Given the description of an element on the screen output the (x, y) to click on. 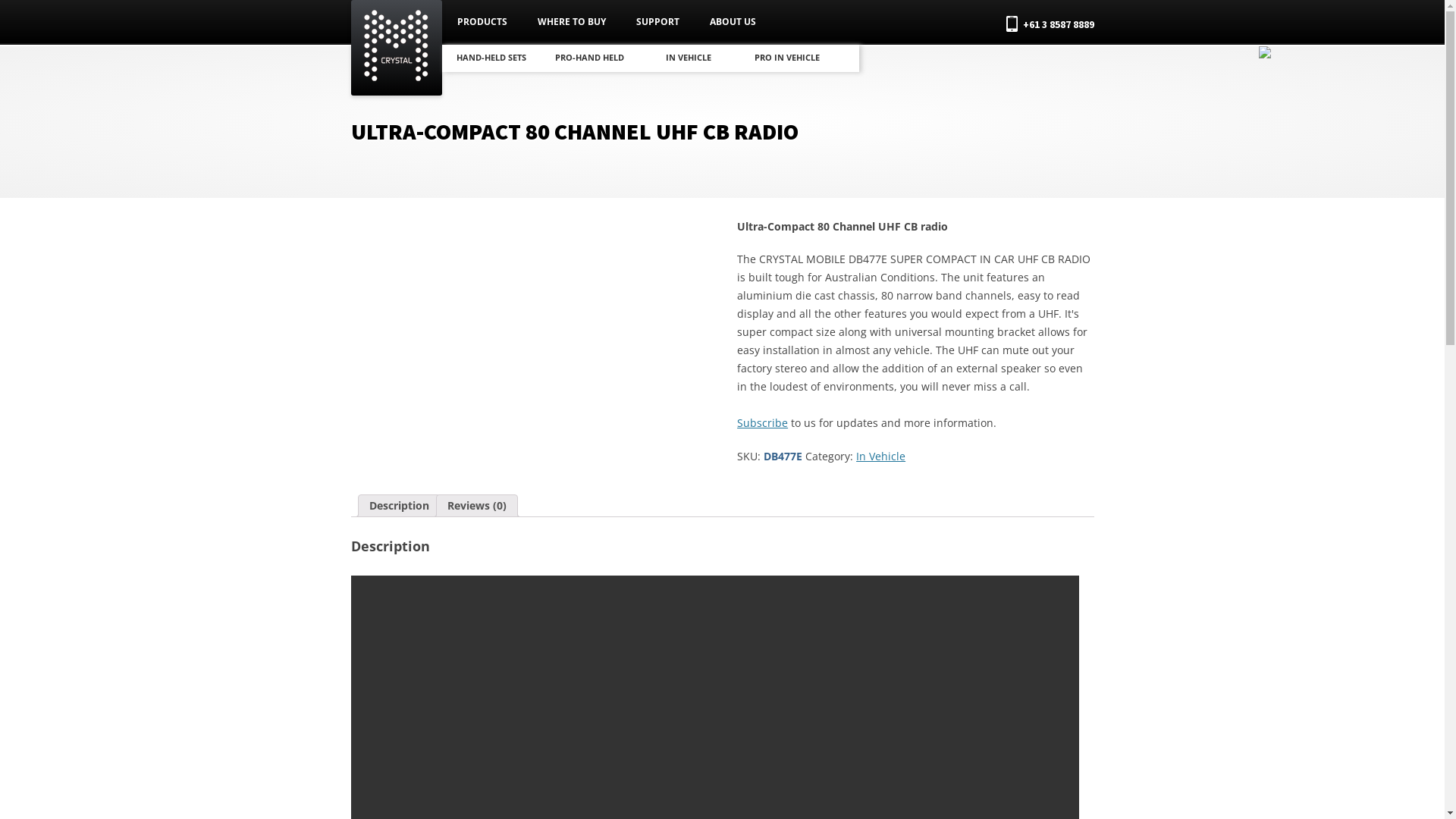
Description Element type: text (398, 505)
WHERE TO BUY Element type: text (570, 21)
SUPPORT Element type: text (656, 21)
IN VEHICLE Element type: text (688, 58)
Subscribe Element type: text (762, 422)
HAND-HELD SETS Element type: text (491, 58)
PRO-HAND HELD Element type: text (589, 58)
PRO IN VEHICLE Element type: text (787, 58)
PRODUCTS Element type: text (481, 21)
In Vehicle Element type: text (880, 455)
Reviews (0) Element type: text (476, 505)
ABOUT US Element type: text (732, 21)
